Given the description of an element on the screen output the (x, y) to click on. 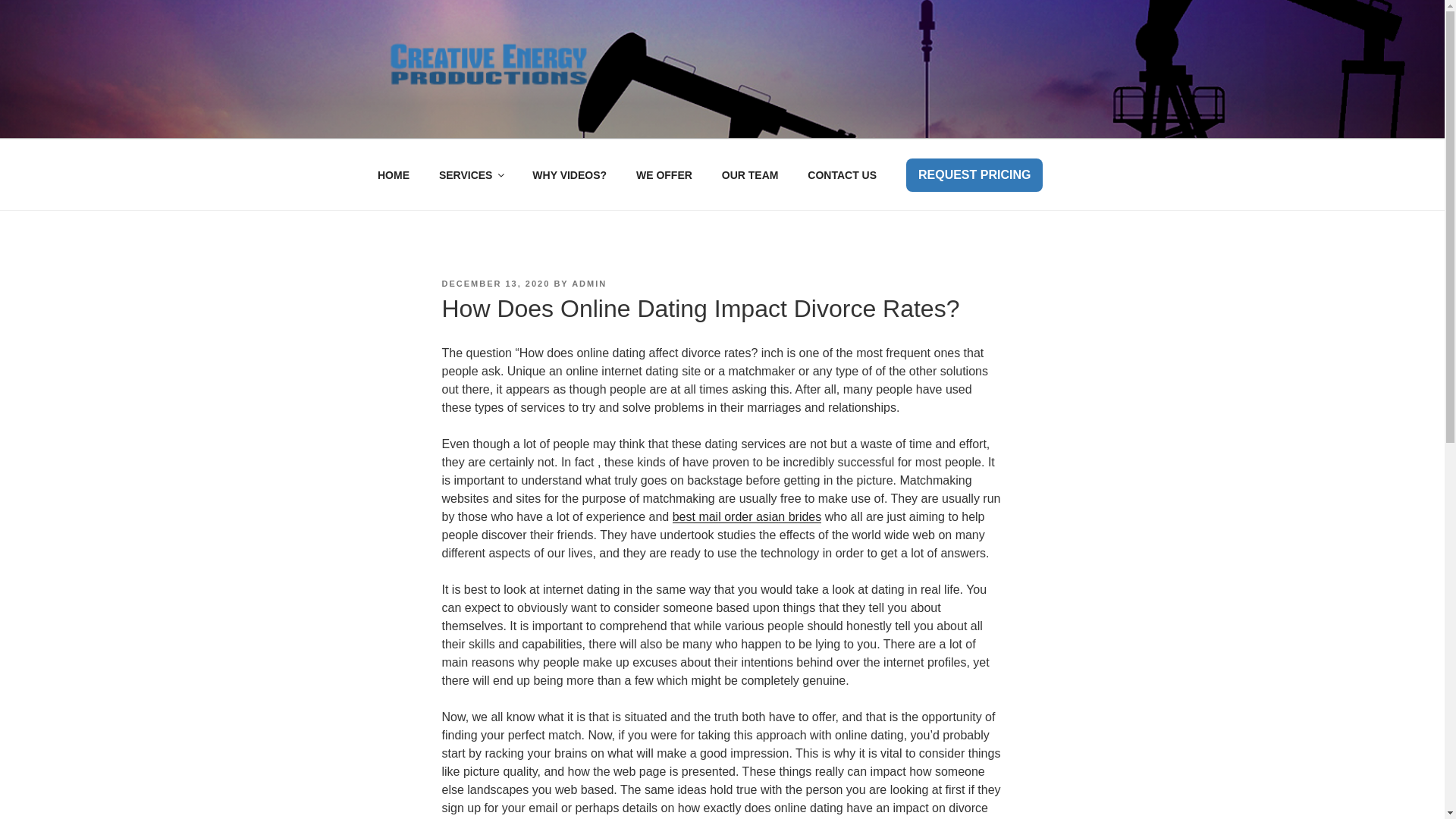
WHY VIDEOS? (569, 174)
ADMIN (589, 283)
best mail order asian brides (747, 516)
OUR TEAM (749, 174)
DECEMBER 13, 2020 (495, 283)
SERVICES (470, 174)
REQUEST PRICING (973, 174)
HOME (393, 174)
REQUEST PRICING (973, 174)
WE OFFER (663, 174)
CONTACT US (841, 174)
